Given the description of an element on the screen output the (x, y) to click on. 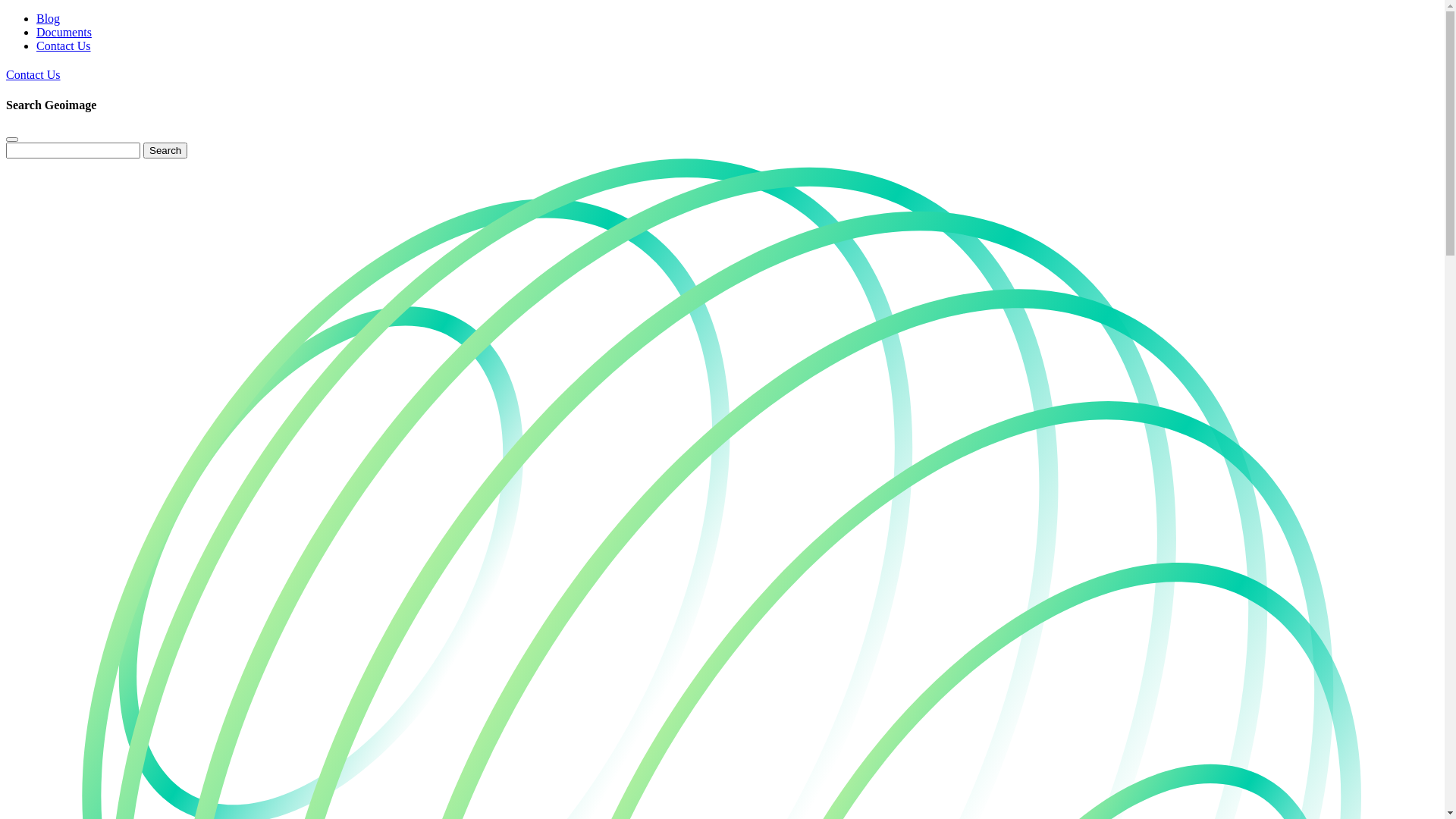
Contact Us Element type: text (63, 45)
Contact Us Element type: text (33, 74)
Documents Element type: text (63, 31)
Search Element type: text (165, 150)
Blog Element type: text (47, 18)
